Given the description of an element on the screen output the (x, y) to click on. 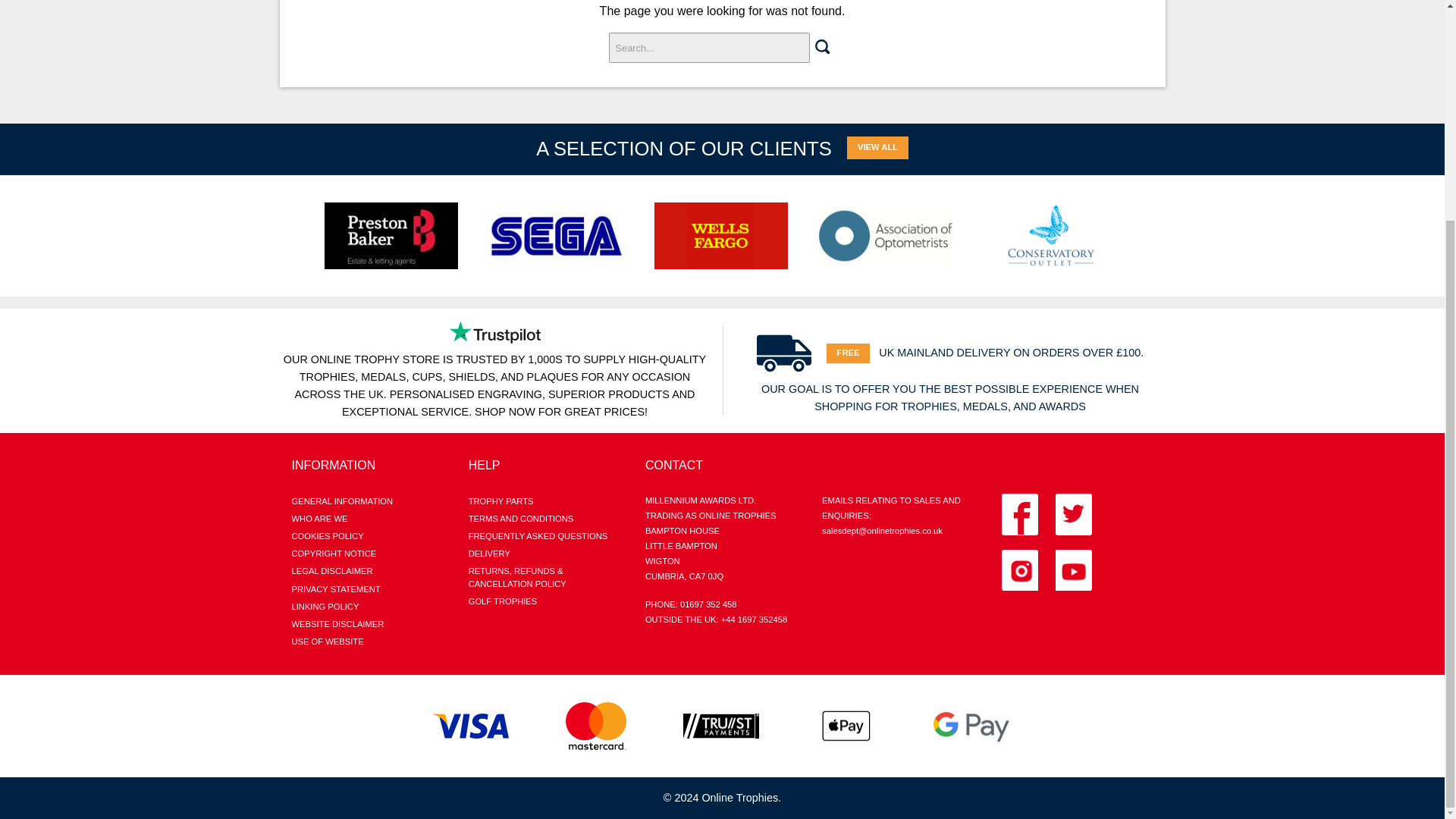
Search for: (708, 47)
COOKIES POLICY (367, 536)
Customer reviews powered by Trustpilot (494, 332)
LINKING POLICY (367, 606)
LEGAL DISCLAIMER (367, 570)
TROPHY PARTS (544, 501)
GOLF TROPHIES (544, 601)
GENERAL INFORMATION (367, 501)
FREQUENTLY ASKED QUESTIONS (544, 536)
WHO ARE WE (367, 518)
